Given the description of an element on the screen output the (x, y) to click on. 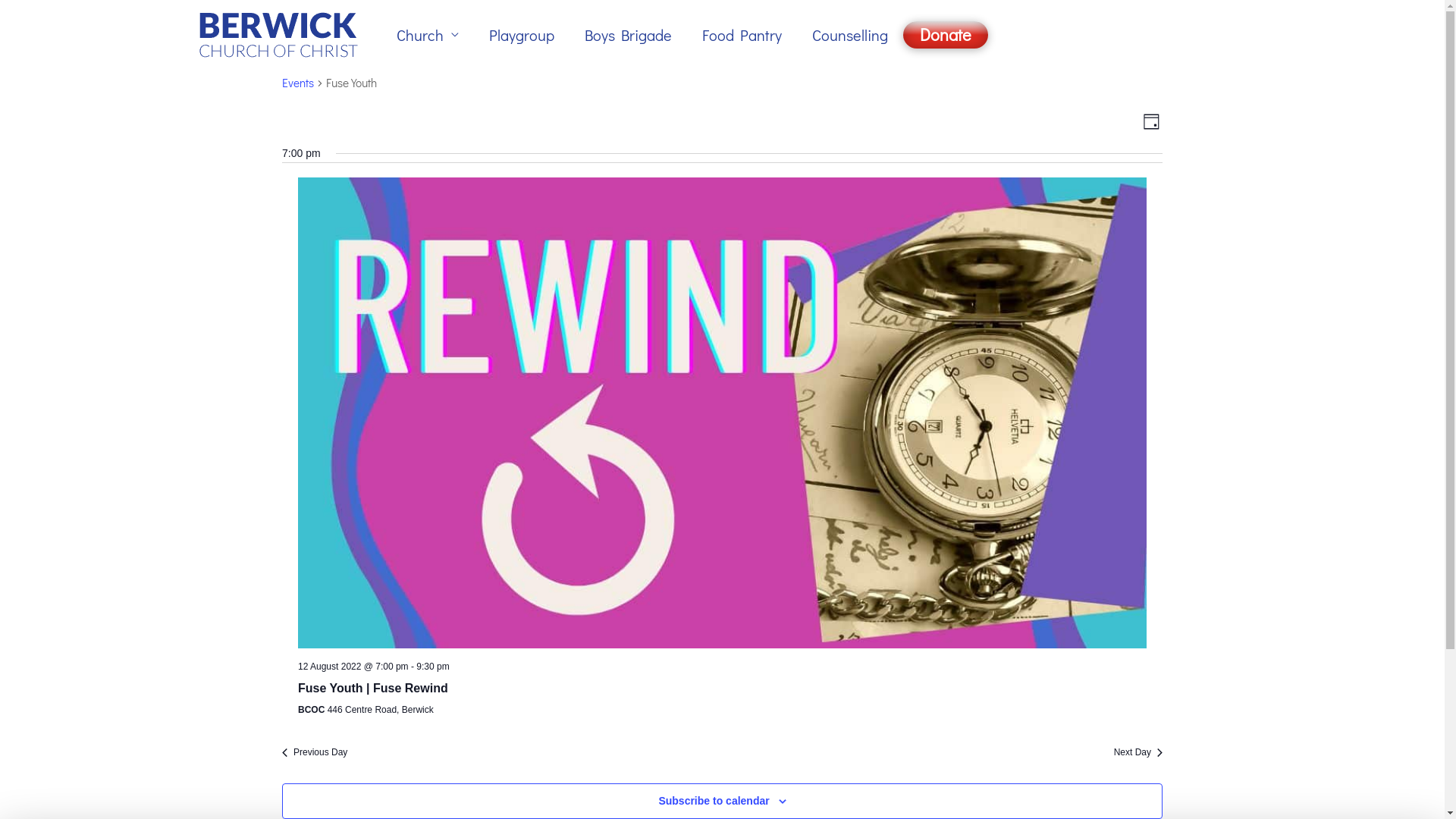
Day Element type: text (1151, 121)
Events Element type: text (297, 84)
Church Element type: text (426, 34)
Fuse Youth | Fuse Rewind Element type: hover (722, 413)
Food Pantry Element type: text (742, 34)
Fuse Youth | Fuse Rewind Element type: text (373, 688)
Donate Element type: text (944, 34)
Subscribe to calendar Element type: text (713, 800)
Next Day Element type: text (1137, 752)
Playgroup Element type: text (520, 34)
Previous Day Element type: text (314, 752)
Boys Brigade Element type: text (627, 34)
Counselling Element type: text (849, 34)
